Given the description of an element on the screen output the (x, y) to click on. 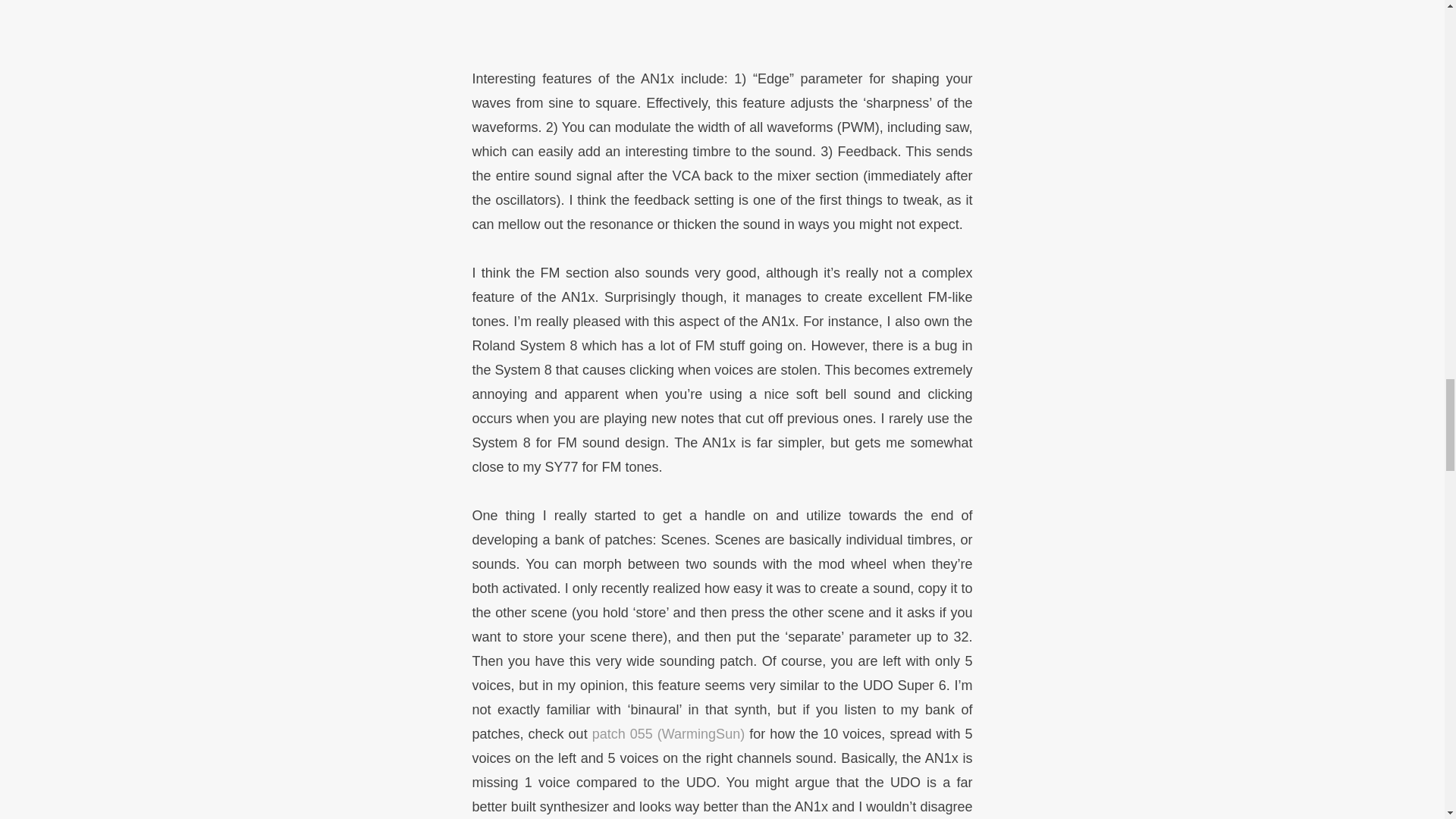
Yamaha AN1x 64 patch set: Pads, bells, sequences, and FX (721, 22)
